Given the description of an element on the screen output the (x, y) to click on. 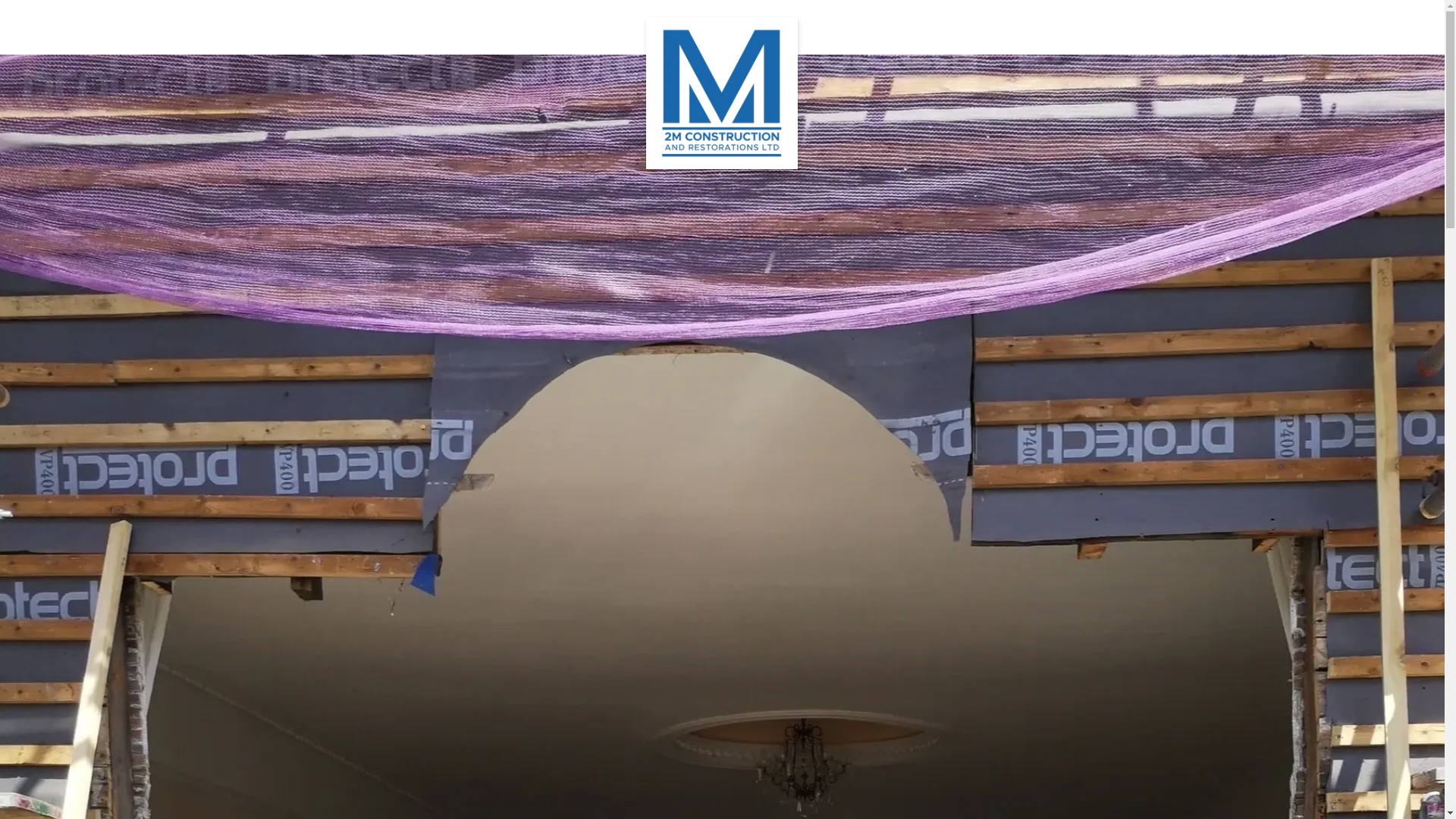
2M Construction (721, 24)
